Given the description of an element on the screen output the (x, y) to click on. 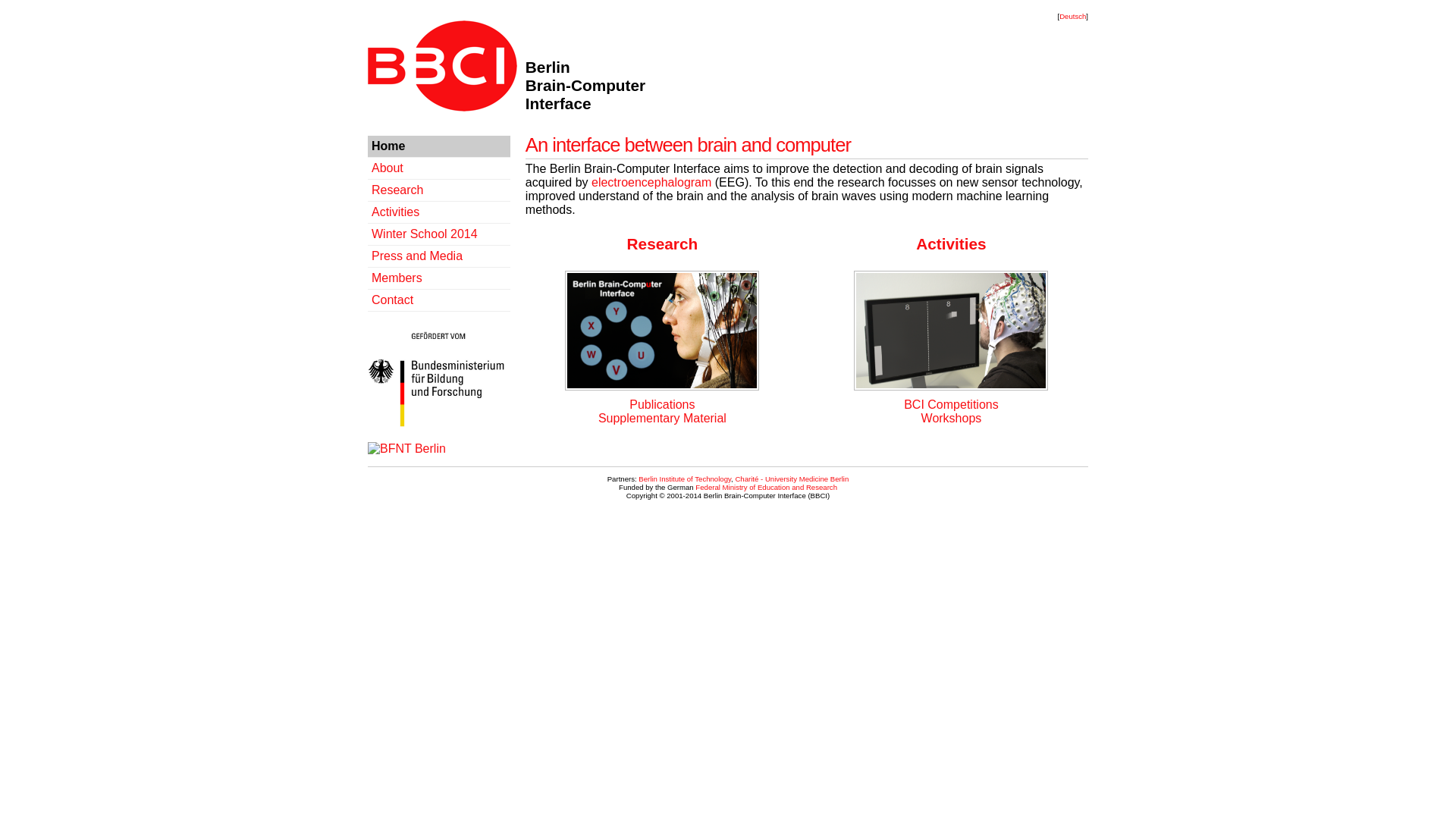
electroencephalogram (651, 182)
Supplementary Material (662, 418)
About (387, 167)
Winter School 2014 (424, 233)
Research (397, 189)
Activities (395, 211)
Deutsch (1072, 16)
Contact (392, 299)
BCI Competitions (951, 404)
Activities (950, 243)
Press and Media (417, 255)
Members (396, 277)
Berlin Institute of Technology (684, 479)
Workshops (951, 418)
Publications (661, 404)
